Given the description of an element on the screen output the (x, y) to click on. 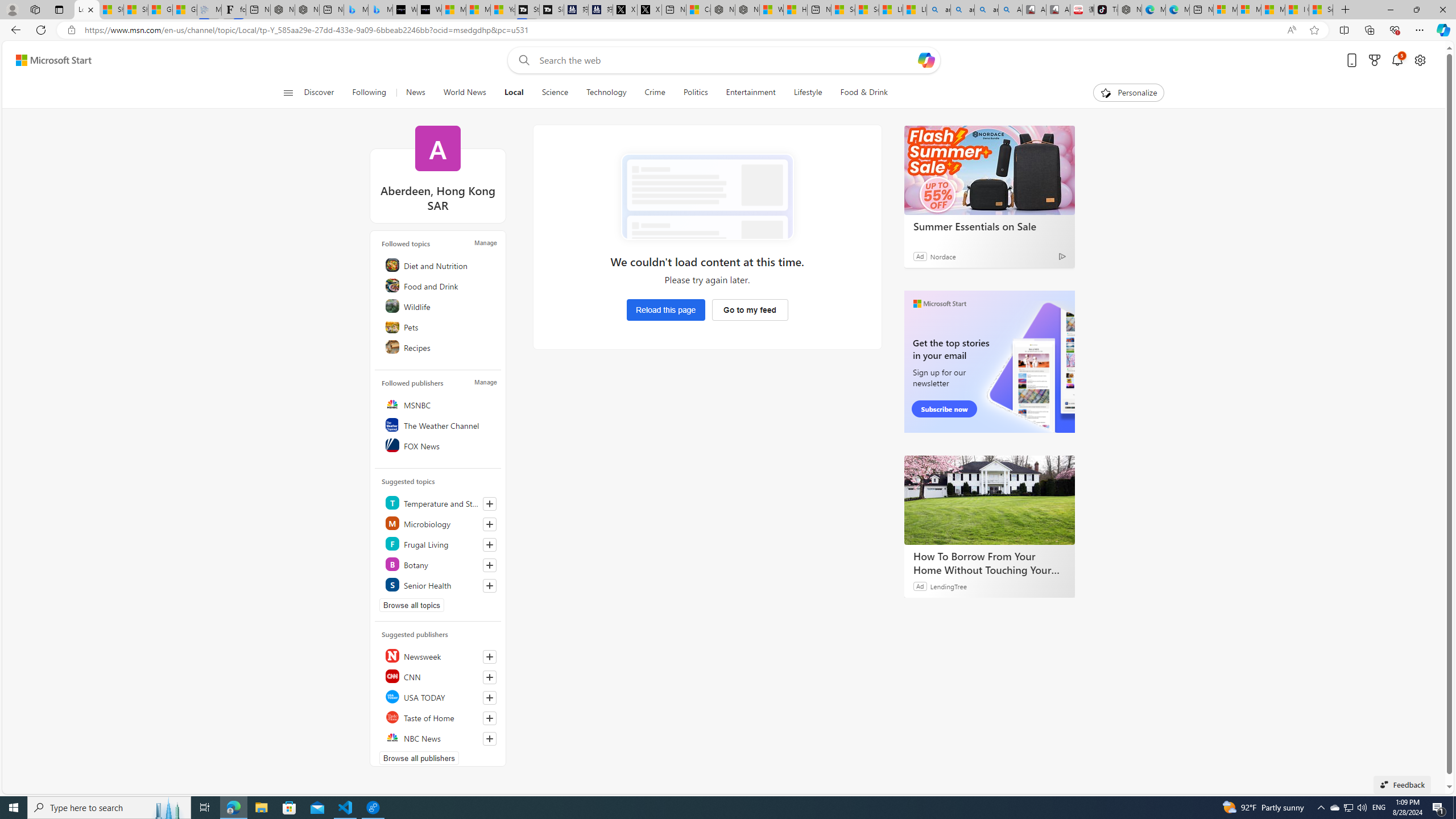
Go to my feed (749, 309)
CNN (439, 676)
Food & Drink (864, 92)
Huge shark washes ashore at New York City beach | Watch (795, 9)
Politics (695, 92)
LendingTree (948, 586)
Science (554, 92)
Microsoft account | Privacy (1248, 9)
